Given the description of an element on the screen output the (x, y) to click on. 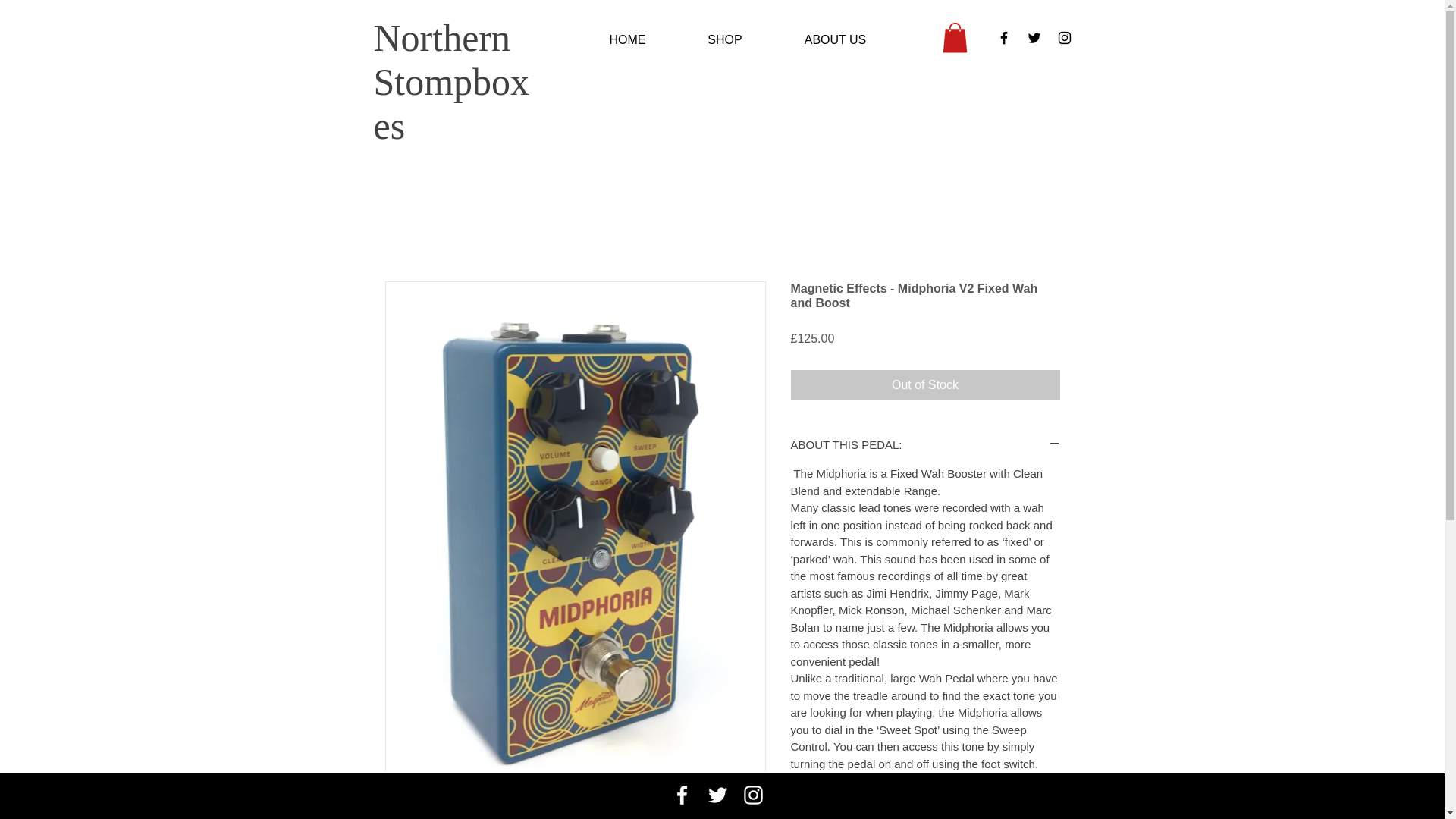
HOME (627, 40)
SHOP (725, 40)
Northern Stompboxes (450, 81)
ABOUT THIS PEDAL: (924, 444)
ABOUT US (835, 40)
Out of Stock (924, 385)
